Given the description of an element on the screen output the (x, y) to click on. 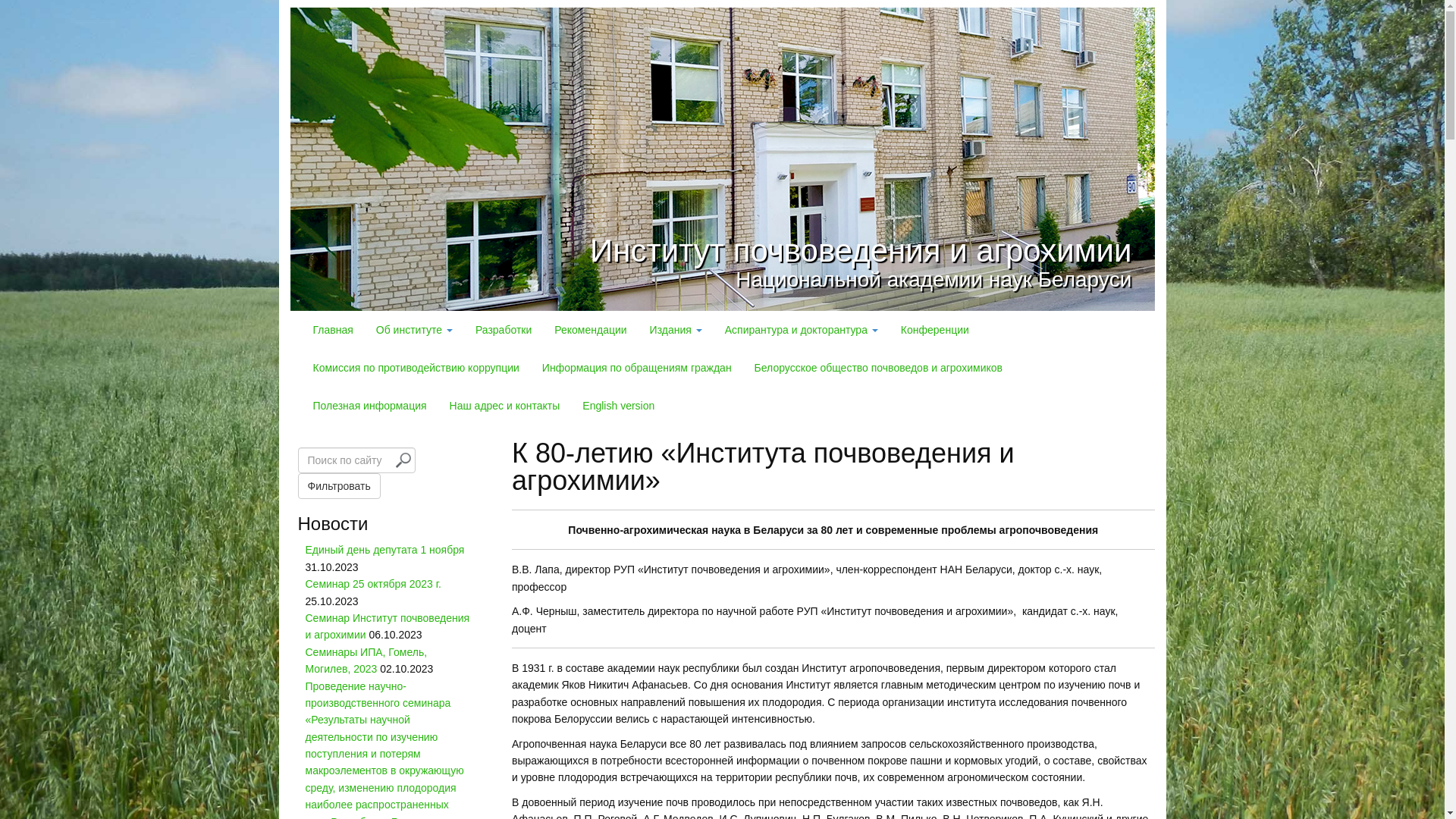
English version Element type: text (618, 405)
